Given the description of an element on the screen output the (x, y) to click on. 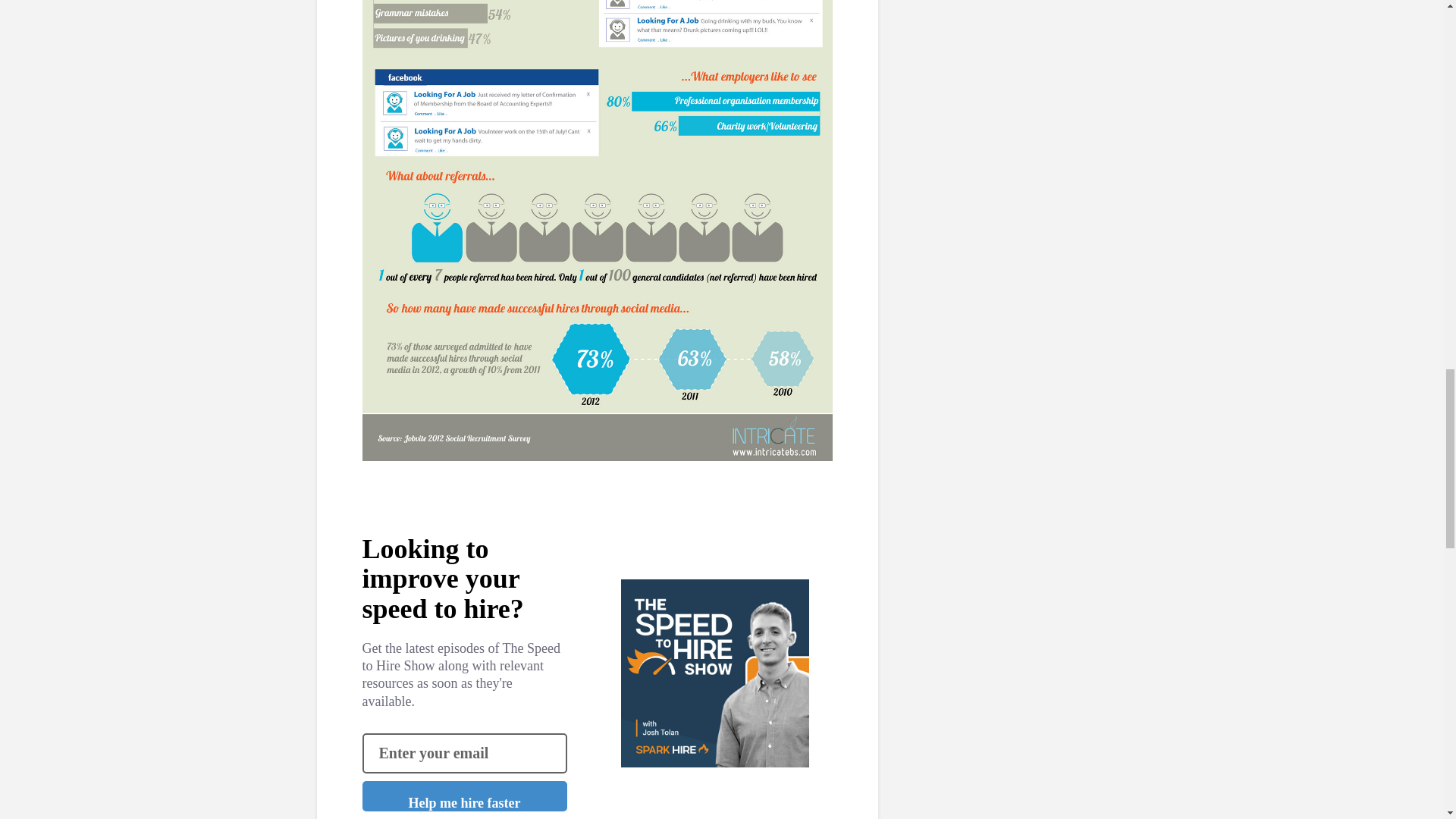
Help me hire faster (464, 796)
